Given the description of an element on the screen output the (x, y) to click on. 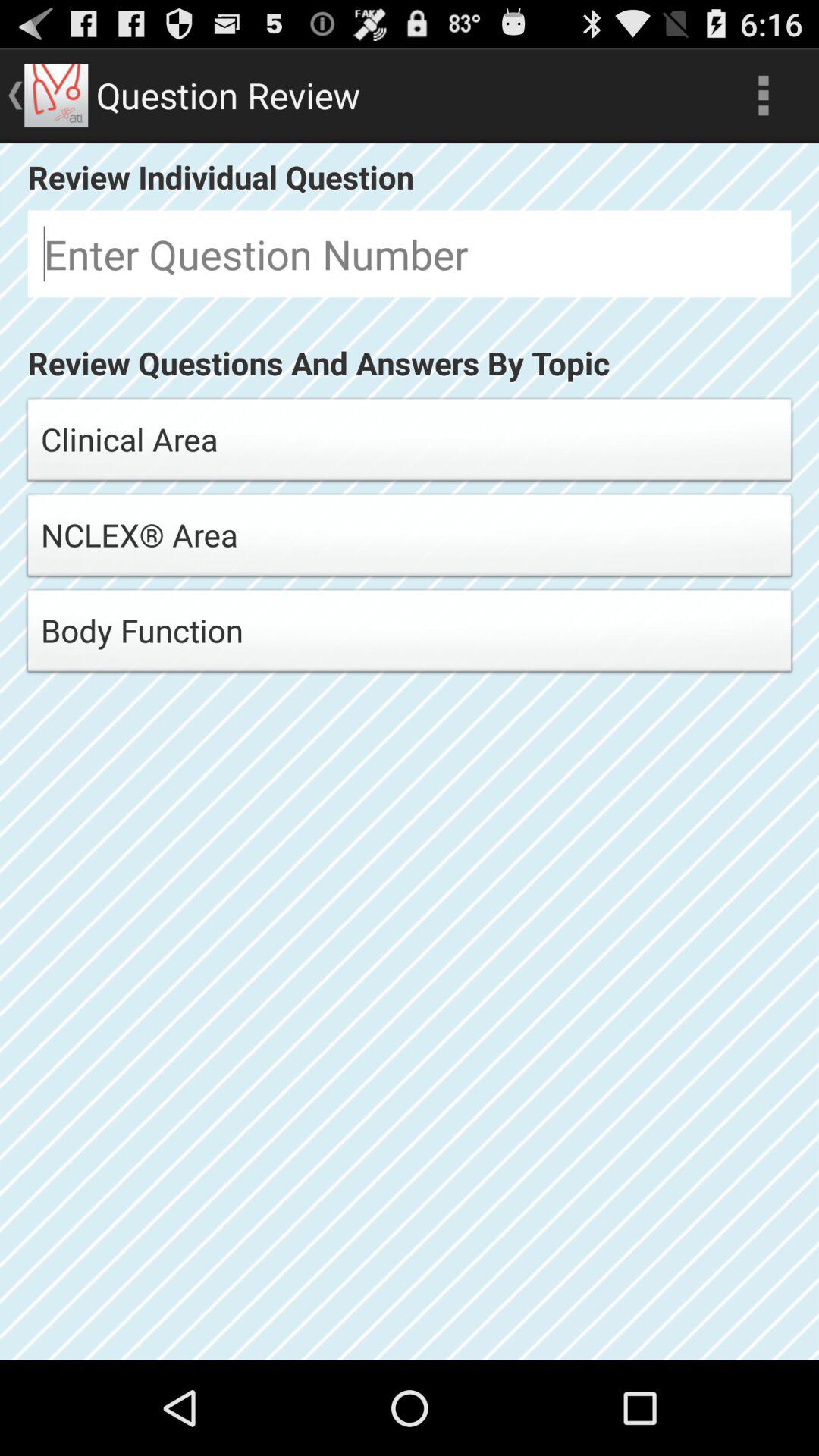
enter question number (409, 253)
